Given the description of an element on the screen output the (x, y) to click on. 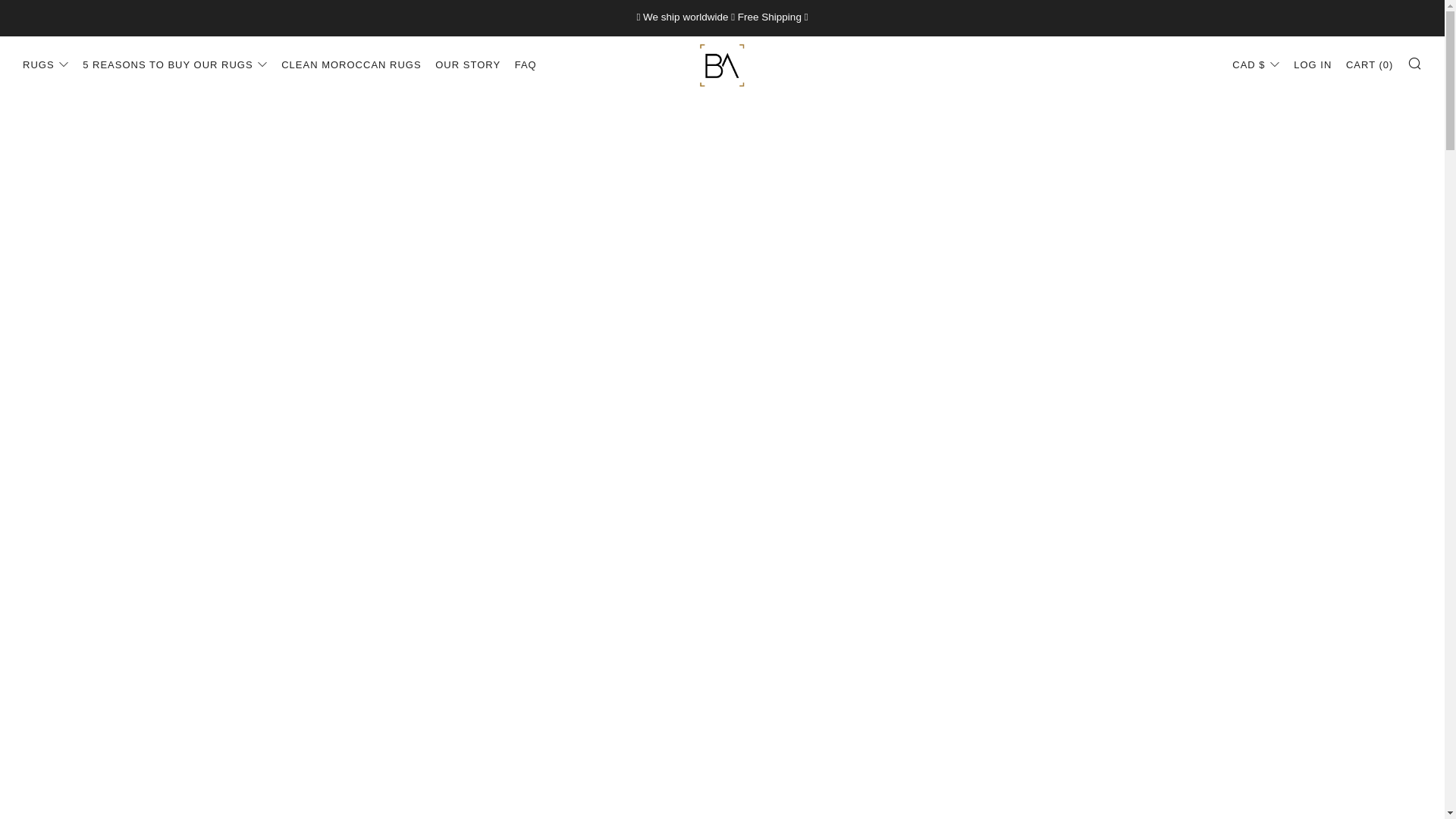
RUGS Element type: text (45, 65)
OUR STORY Element type: text (467, 65)
SEARCH Element type: text (1414, 62)
CAD $ Element type: text (1255, 65)
FAQ Element type: text (525, 65)
CLEAN MOROCCAN RUGS Element type: text (350, 65)
5 REASONS TO BUY OUR RUGS Element type: text (174, 65)
CART (0) Element type: text (1369, 65)
LOG IN Element type: text (1312, 65)
